Given the description of an element on the screen output the (x, y) to click on. 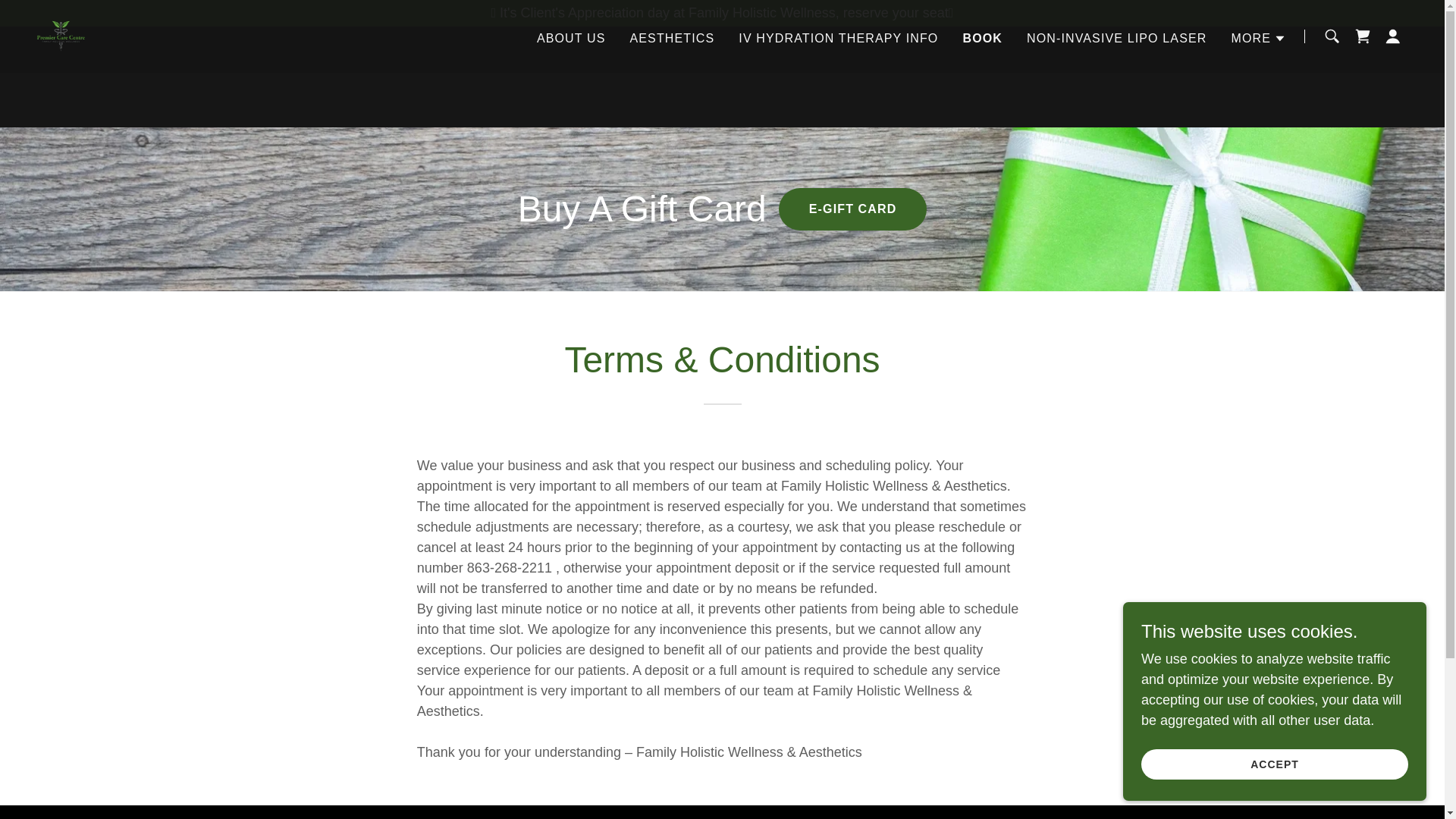
NON-INVASIVE LIPO LASER (1116, 37)
BOOK (982, 37)
MORE (1257, 37)
IV HYDRATION THERAPY INFO (837, 37)
ABOUT US (571, 37)
AESTHETICS (671, 37)
